Given the description of an element on the screen output the (x, y) to click on. 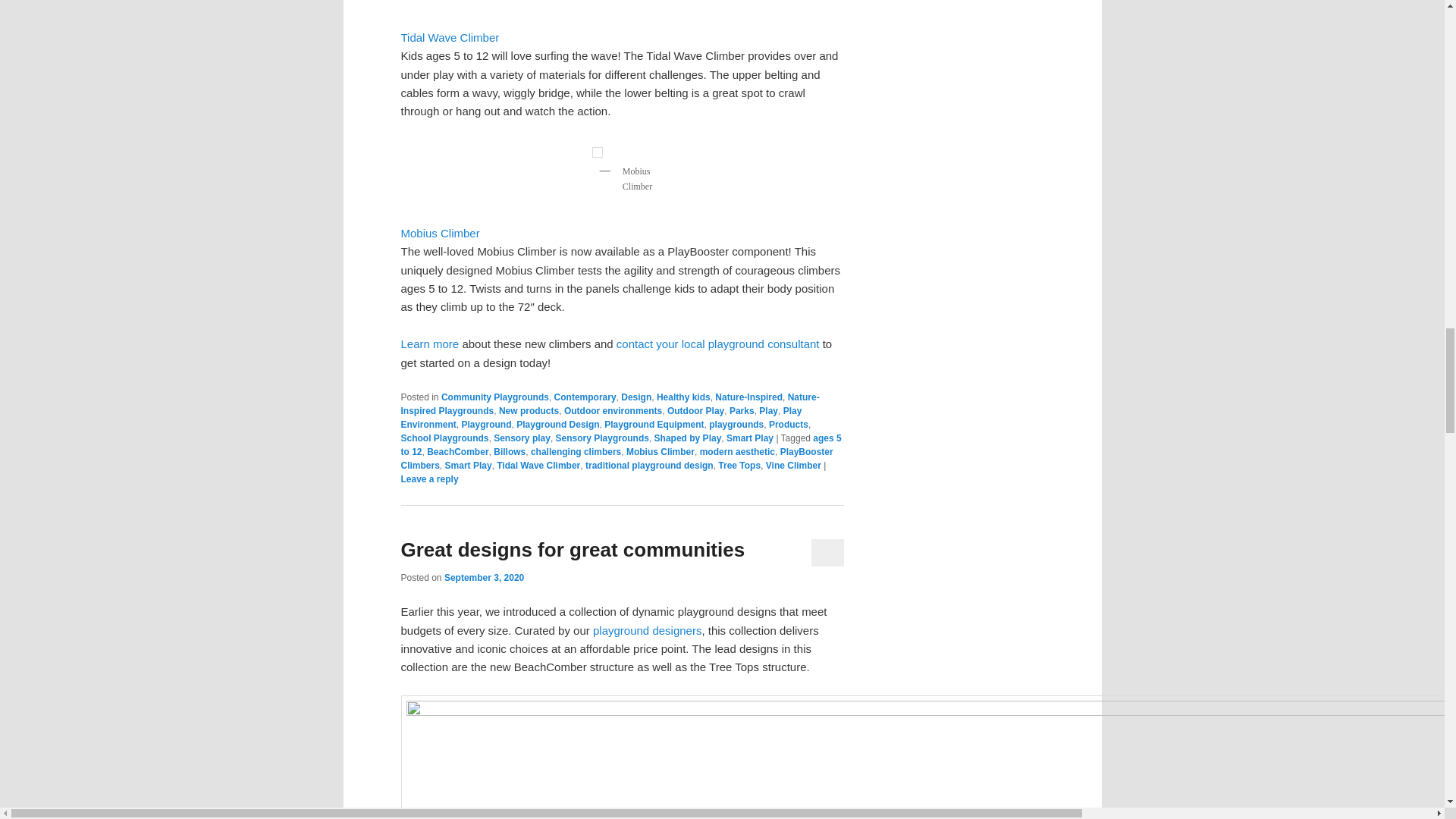
Nature-Inspired Playgrounds (609, 404)
contact your local playground consultant (717, 343)
New products (529, 410)
Nature-Inspired (748, 397)
Design (635, 397)
Outdoor Play (694, 410)
Play (767, 410)
Outdoor environments (613, 410)
Play Environment (601, 417)
Mobius Climber (439, 232)
